Given the description of an element on the screen output the (x, y) to click on. 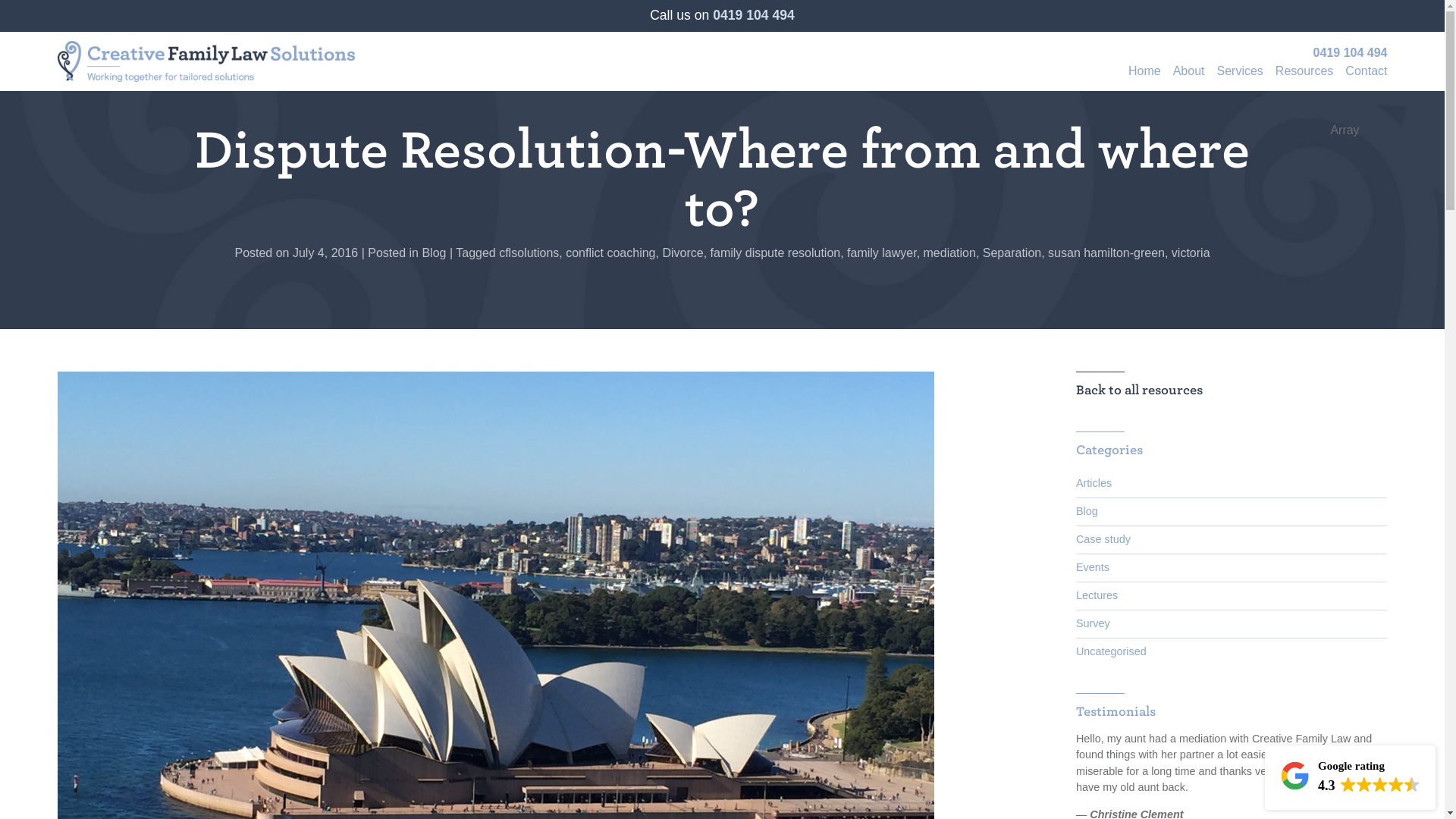
0419 104 494 (1350, 51)
family dispute resolution (775, 252)
family lawyer (882, 252)
Articles (1231, 483)
Services (1235, 75)
Resources (1301, 75)
cflsolutions (529, 252)
Survey (1231, 623)
Case study (1231, 539)
0419 104 494 (753, 14)
Blog (433, 252)
Events (1231, 567)
Contact (1363, 75)
Lectures (1231, 595)
Back to all resources (1138, 390)
